Given the description of an element on the screen output the (x, y) to click on. 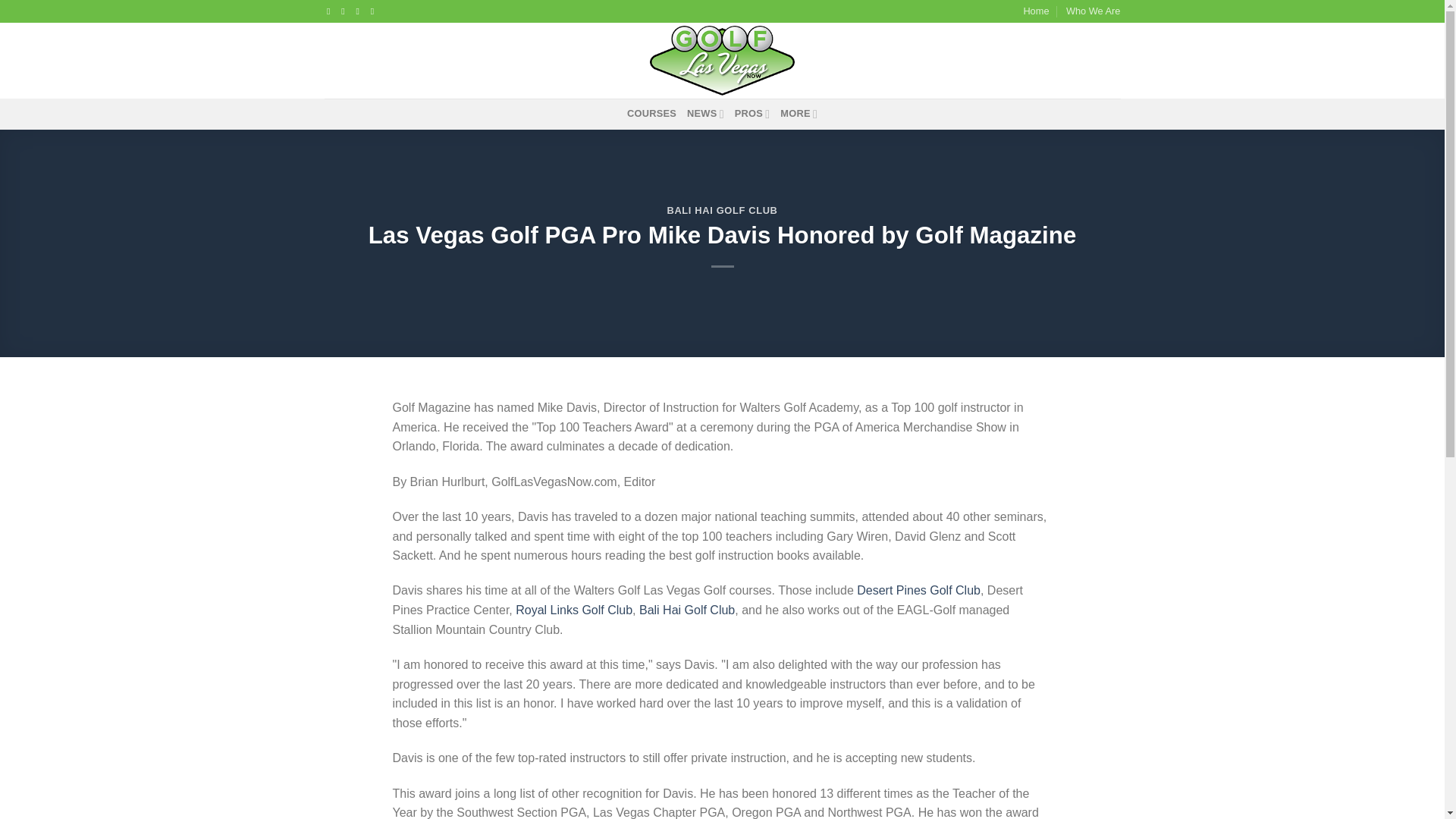
Royal Links Golf Club (573, 609)
MORE (798, 113)
BALI HAI GOLF CLUB (721, 210)
Desert Pines Golf Club (918, 590)
PROS (752, 113)
COURSES (652, 113)
Who We Are (1093, 11)
NEWS (705, 113)
Bali Hai Golf Club (687, 609)
Home (1035, 11)
